Given the description of an element on the screen output the (x, y) to click on. 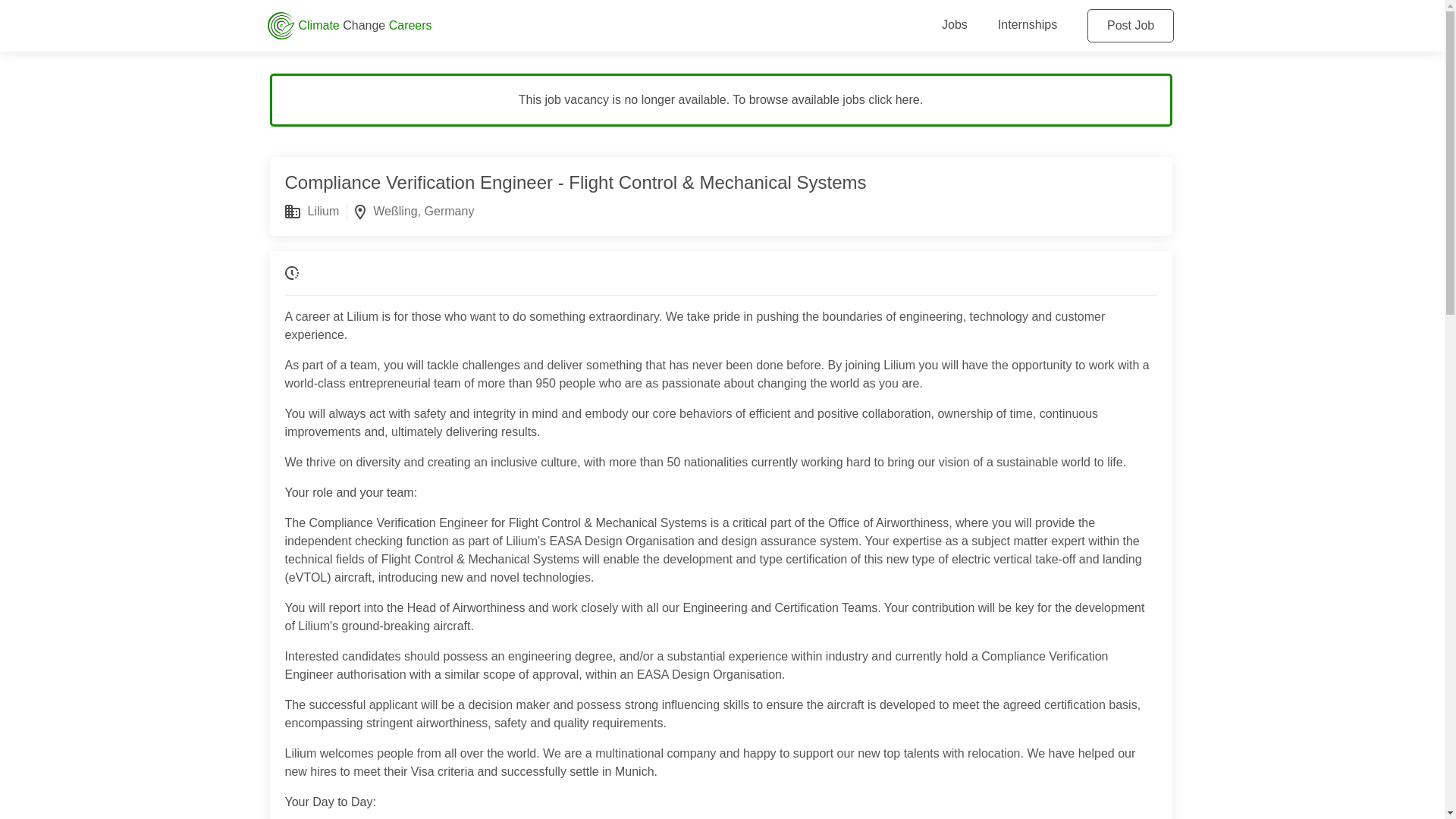
click here. (895, 99)
Lilium (323, 210)
Internships (1027, 24)
Post Job (1130, 25)
Jobs (955, 24)
Climate Change Careers (569, 25)
